Given the description of an element on the screen output the (x, y) to click on. 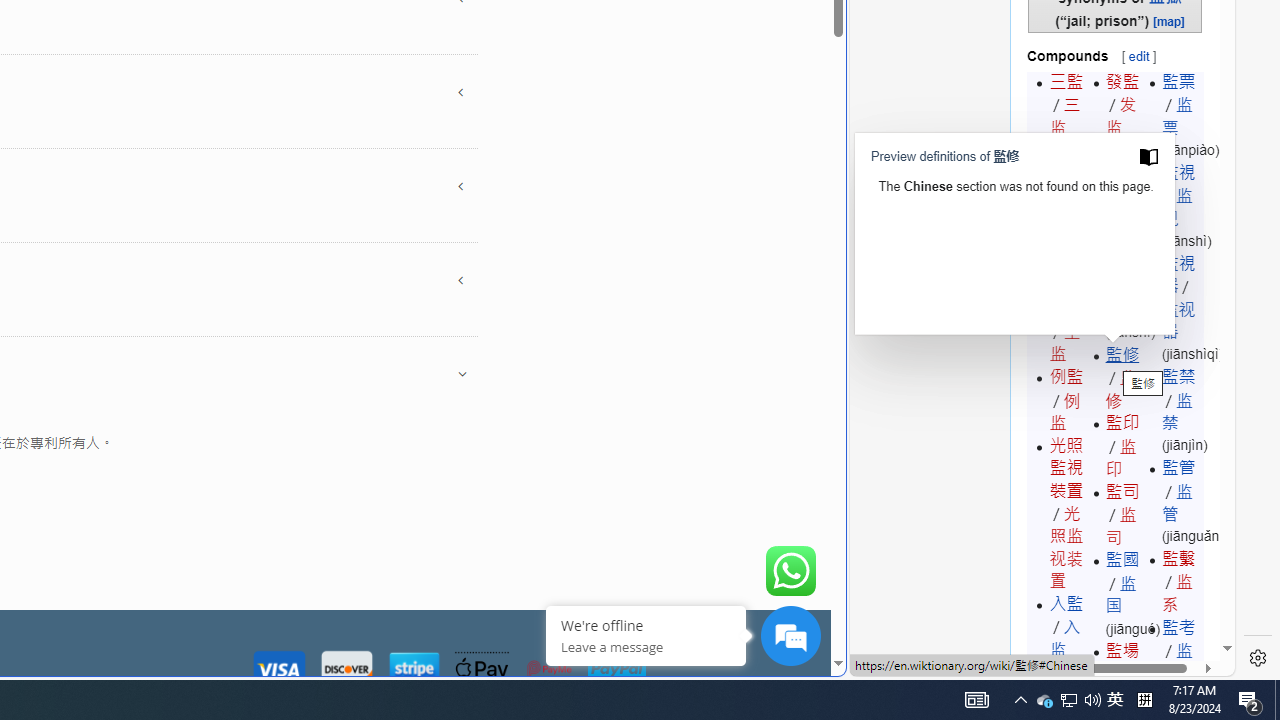
[map] (1169, 20)
